Given the description of an element on the screen output the (x, y) to click on. 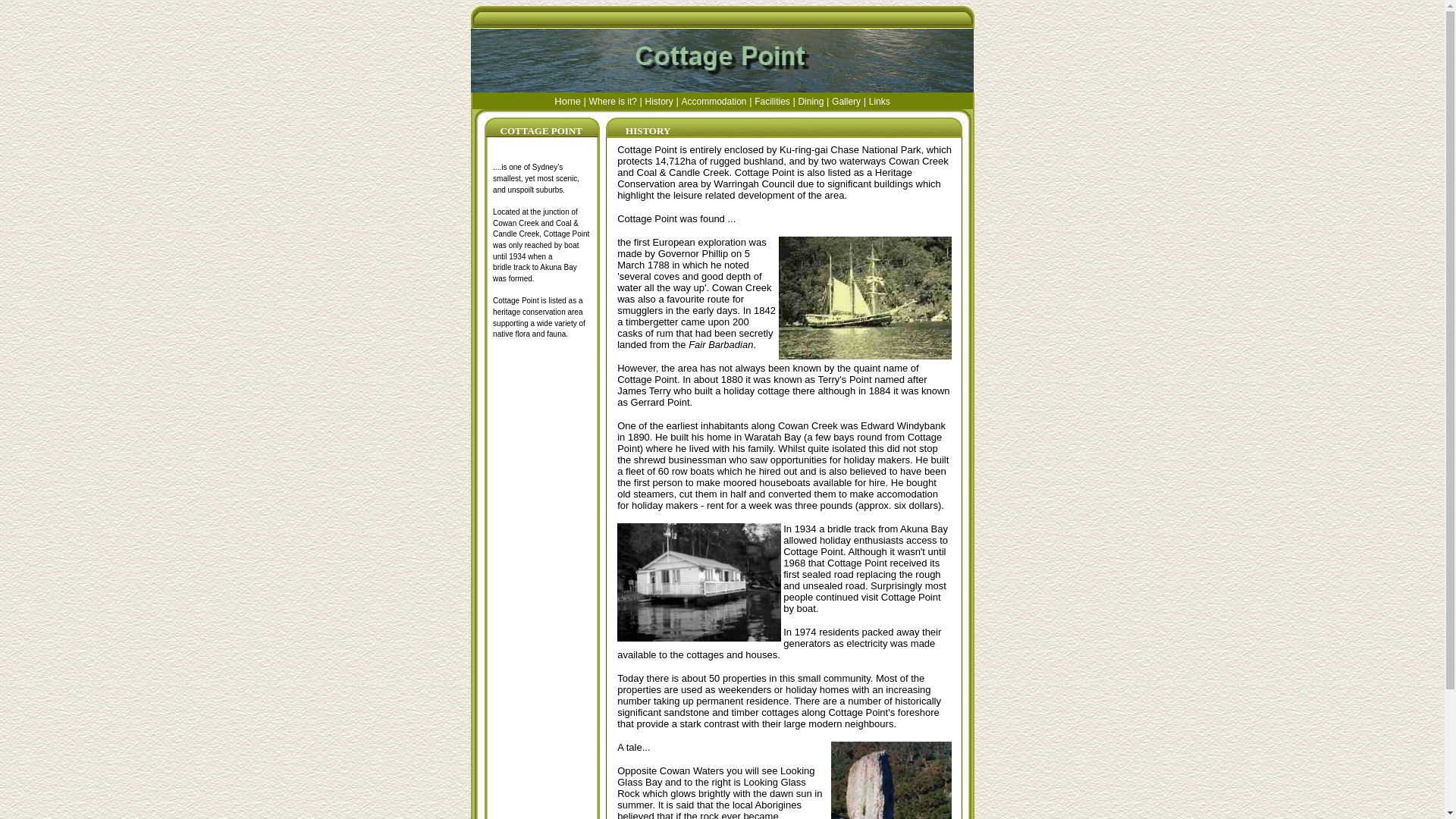
Gallery Element type: text (845, 100)
History Element type: text (659, 100)
Home | Element type: text (571, 100)
Where is it? Element type: text (613, 100)
Accommodation Element type: text (713, 100)
Links Element type: text (879, 100)
Facilities Element type: text (772, 100)
Dining Element type: text (810, 100)
